Given the description of an element on the screen output the (x, y) to click on. 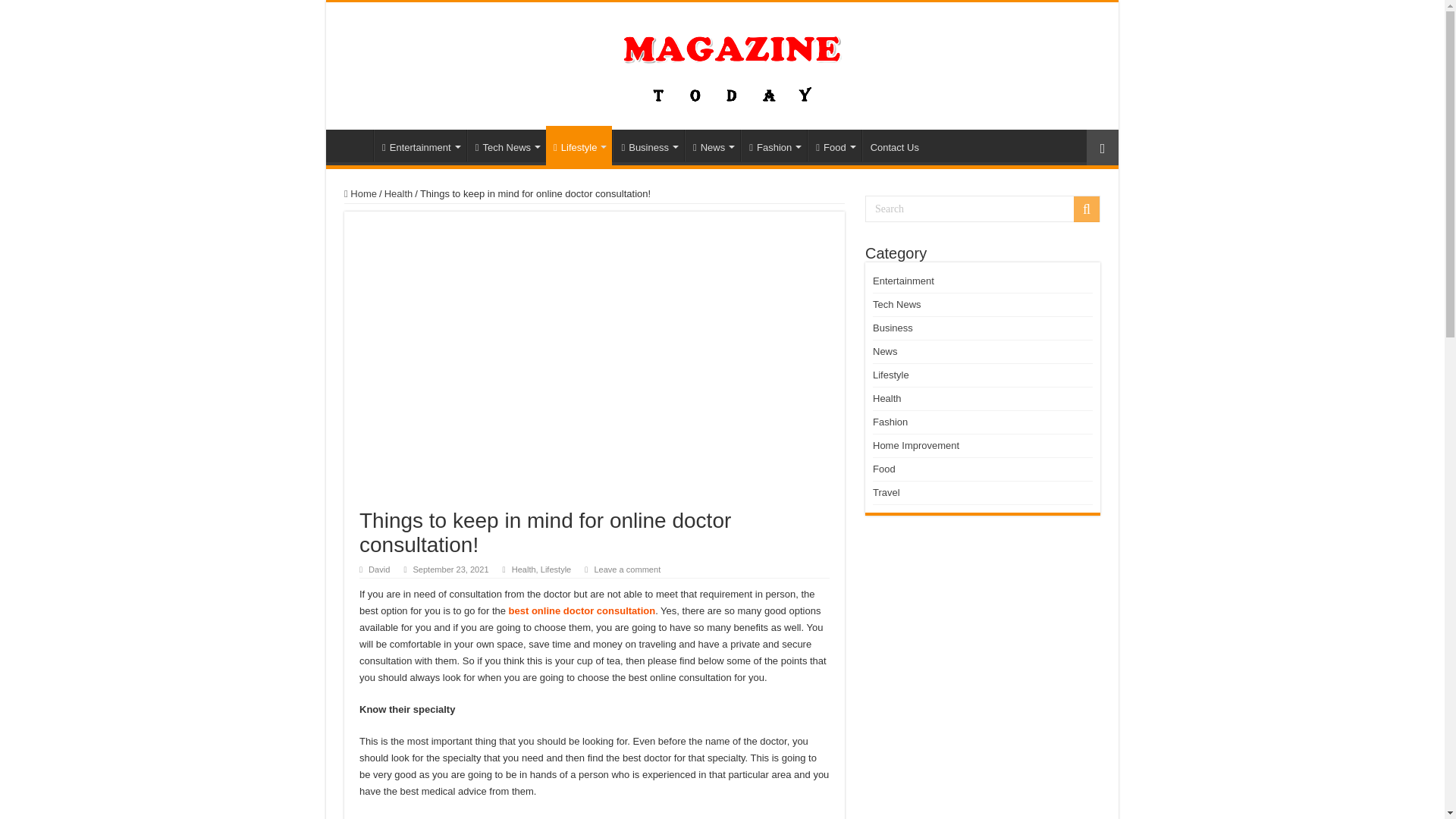
Tech News (506, 145)
Home (352, 145)
Entertainment (419, 145)
Magazine Today (722, 63)
Search (982, 208)
Lifestyle (578, 145)
